Given the description of an element on the screen output the (x, y) to click on. 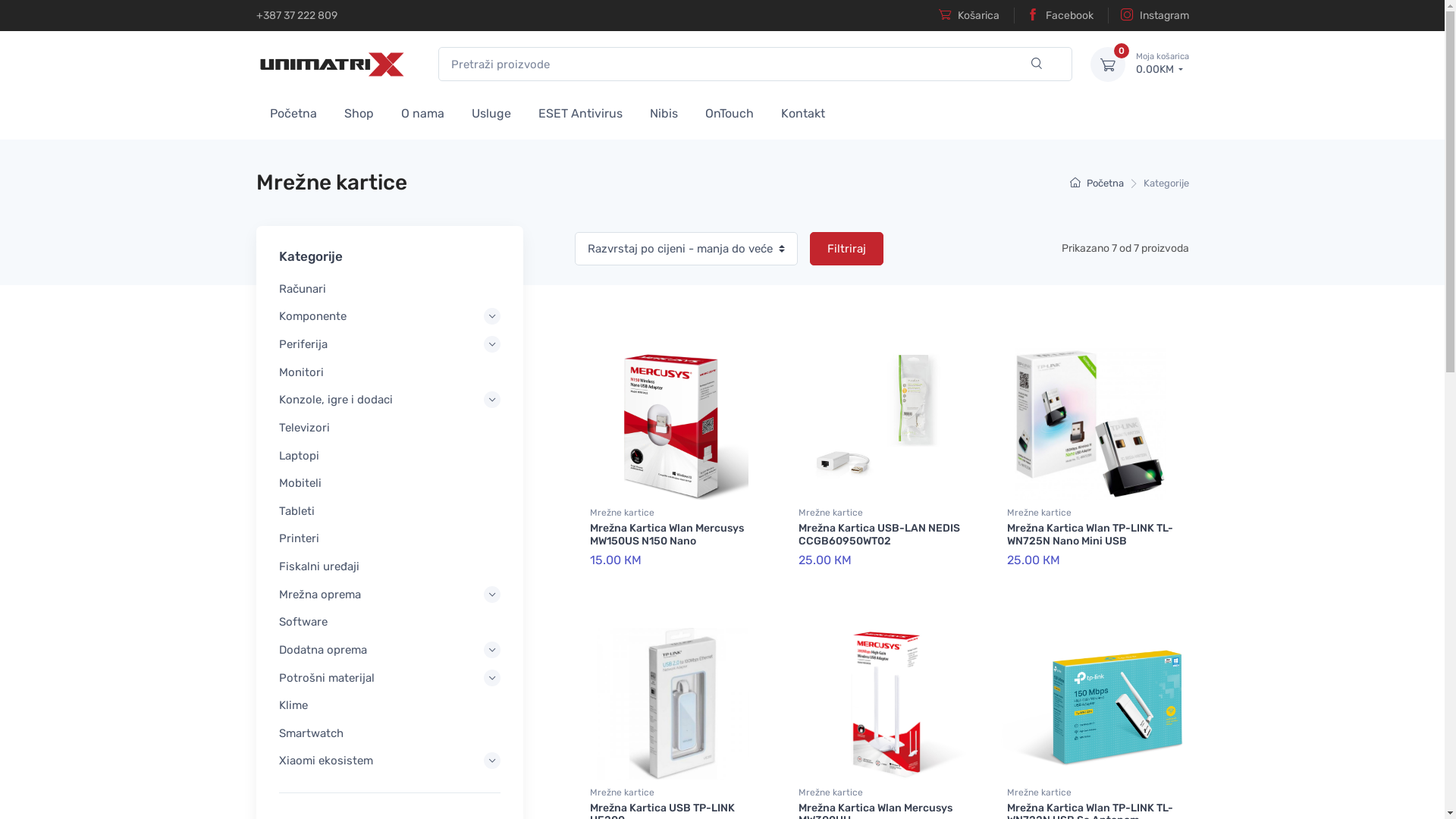
Monitori Element type: text (389, 371)
ESET Antivirus Element type: text (580, 112)
Printeri Element type: text (389, 538)
Software Element type: text (389, 621)
Shop Element type: text (358, 112)
O nama Element type: text (421, 112)
Televizori Element type: text (389, 427)
+387 37 222 809 Element type: text (296, 15)
Periferija Element type: text (389, 343)
Filtriraj Element type: text (846, 249)
Facebook Element type: text (1052, 15)
Xiaomi ekosistem Element type: text (389, 760)
Usluge Element type: text (491, 112)
Laptopi Element type: text (389, 455)
Komponente Element type: text (389, 316)
Nibis Element type: text (662, 112)
OnTouch Element type: text (729, 112)
Mobiteli Element type: text (389, 482)
Instagram Element type: text (1147, 15)
Tableti Element type: text (389, 510)
Klime Element type: text (389, 704)
0 Element type: text (1107, 64)
Dodatna oprema Element type: text (389, 649)
Kontakt Element type: text (802, 112)
Smartwatch Element type: text (389, 732)
Konzole, igre i dodaci Element type: text (389, 399)
